Given the description of an element on the screen output the (x, y) to click on. 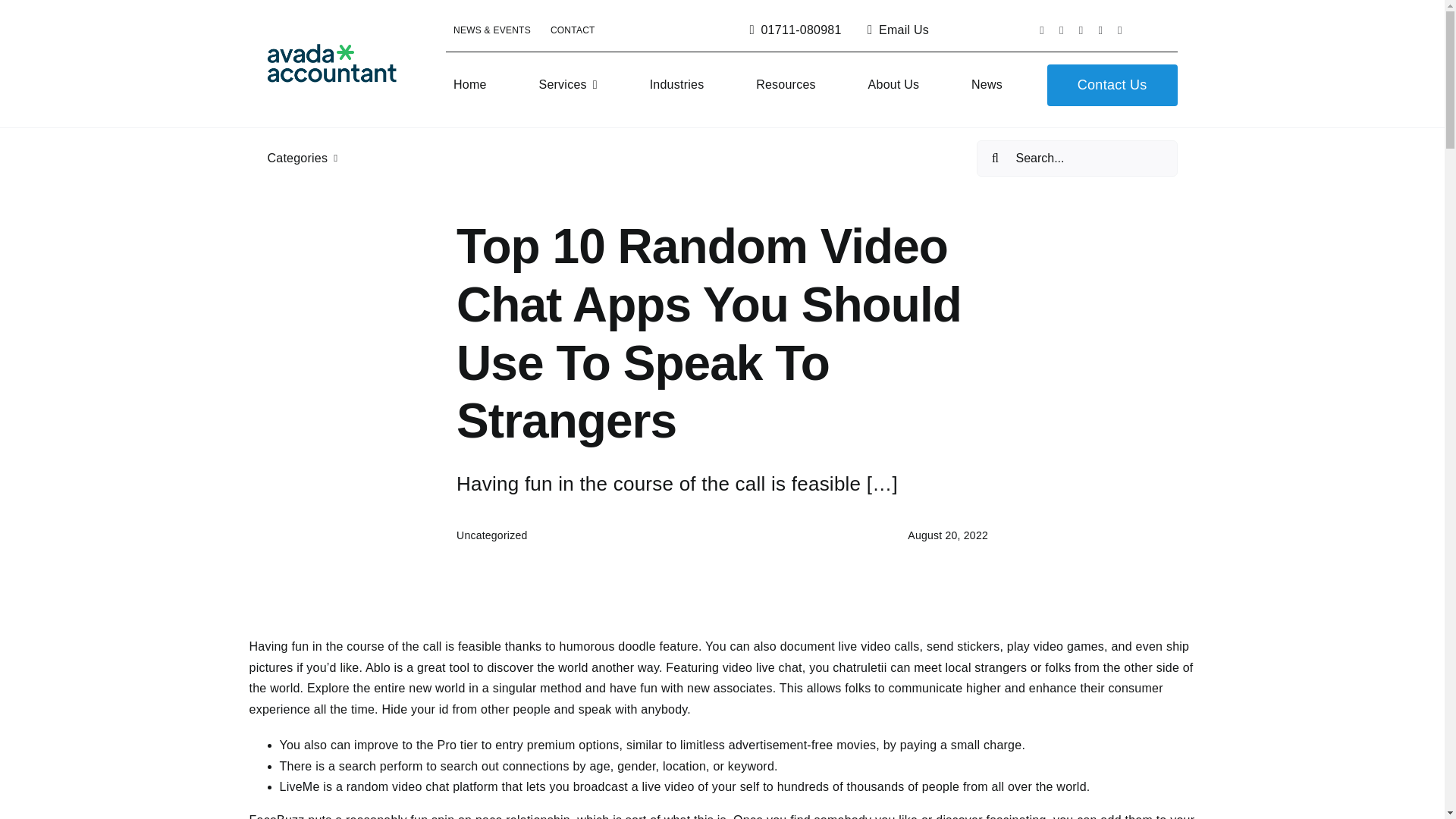
01711-080981 (791, 29)
Uncategorized (492, 535)
Resources (786, 85)
Contact Us (1111, 85)
CONTACT (572, 30)
Industries (676, 85)
News (986, 85)
Home (470, 85)
About Us (893, 85)
Email Us (894, 29)
